Given the description of an element on the screen output the (x, y) to click on. 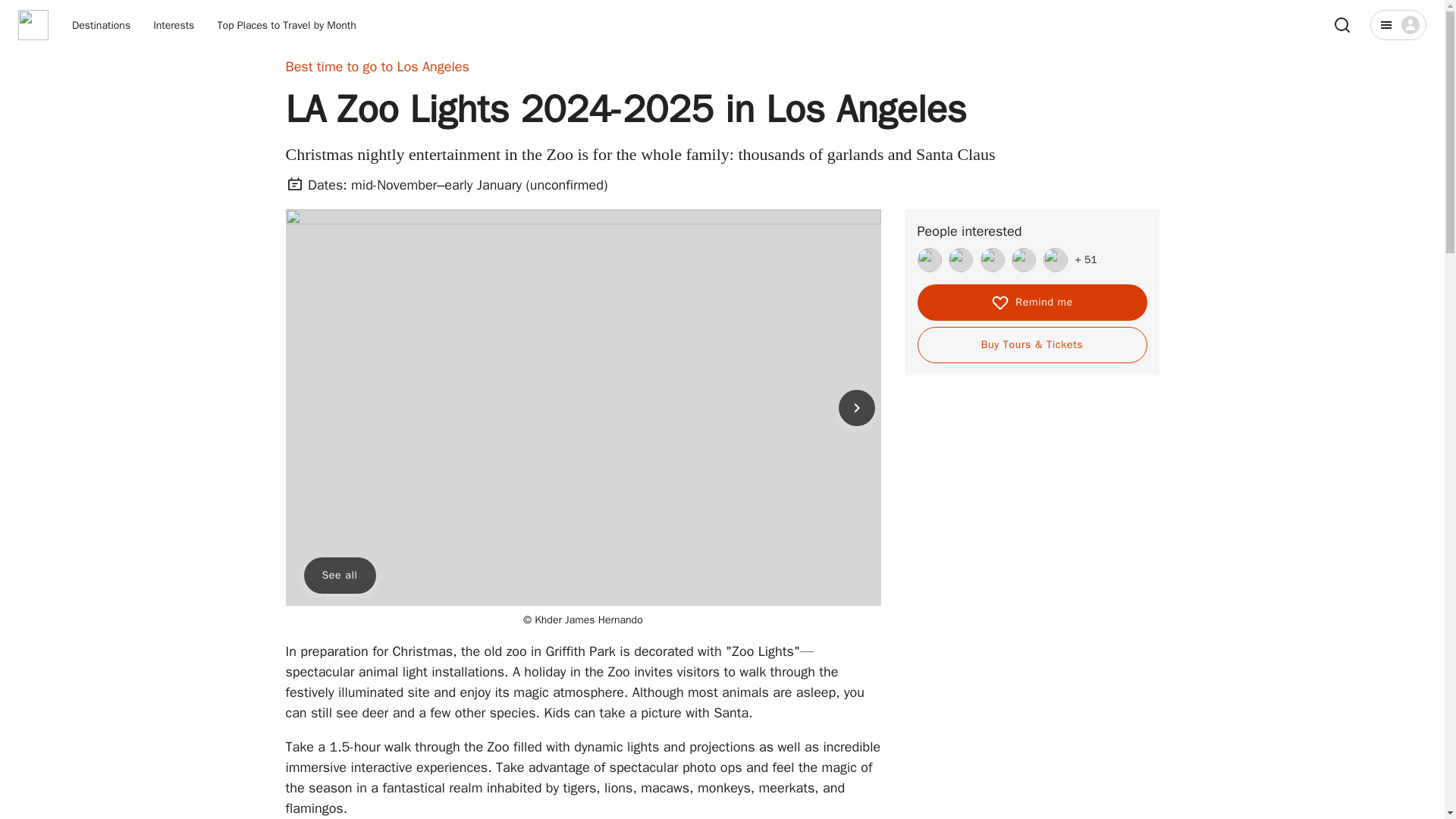
Angela Perez (1023, 259)
Search (1342, 24)
Best time to go to Los Angeles (376, 66)
Home (32, 24)
Christopher Francis Iorizzo (1055, 259)
Remind me (1032, 302)
Gustavo Flores (960, 259)
See all (338, 575)
Gardenia Galvez (991, 259)
Next (856, 407)
